Given the description of an element on the screen output the (x, y) to click on. 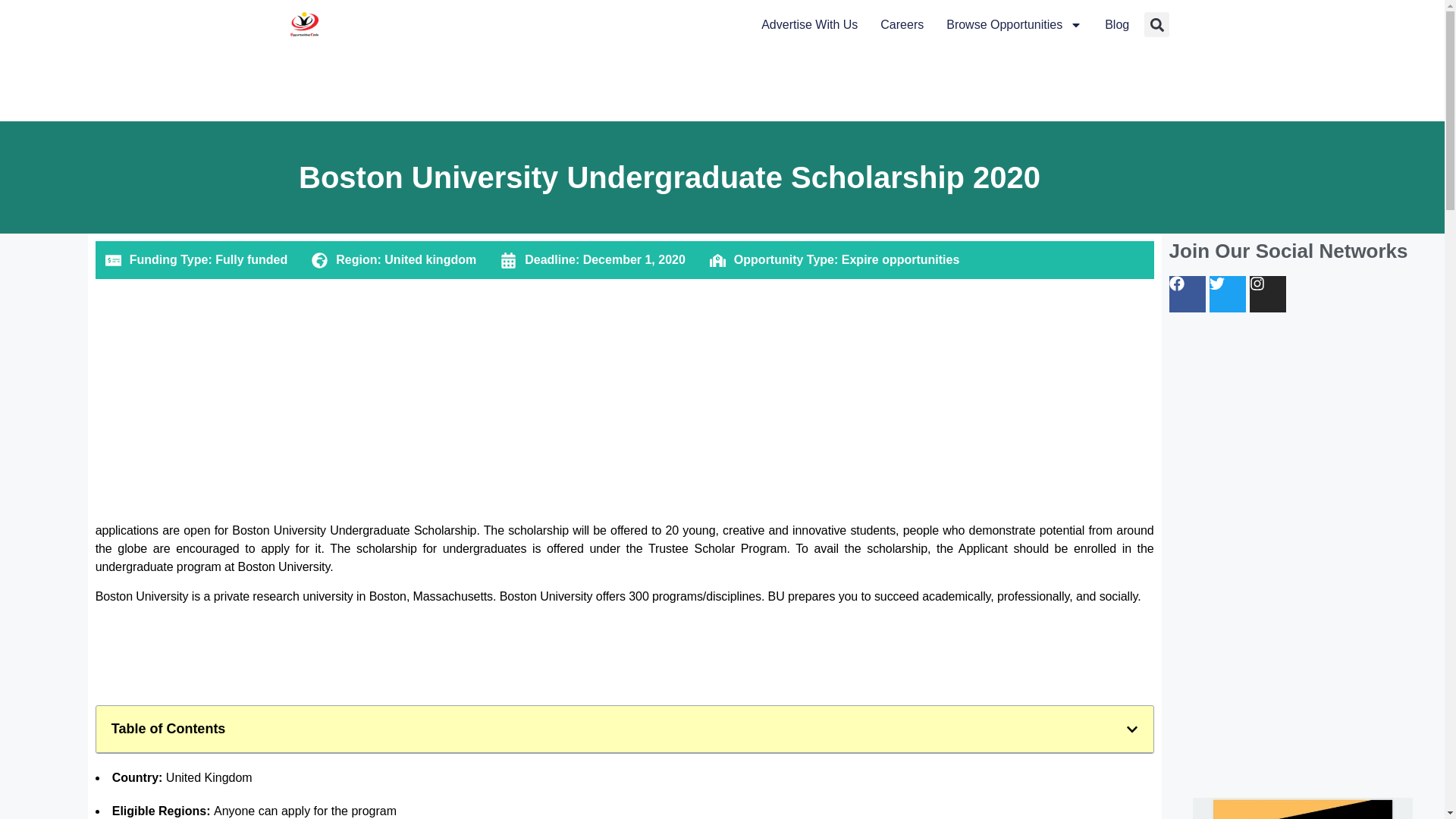
Browse Opportunities (1013, 25)
Advertise With Us (809, 25)
Blog (1117, 25)
Careers (901, 25)
